Given the description of an element on the screen output the (x, y) to click on. 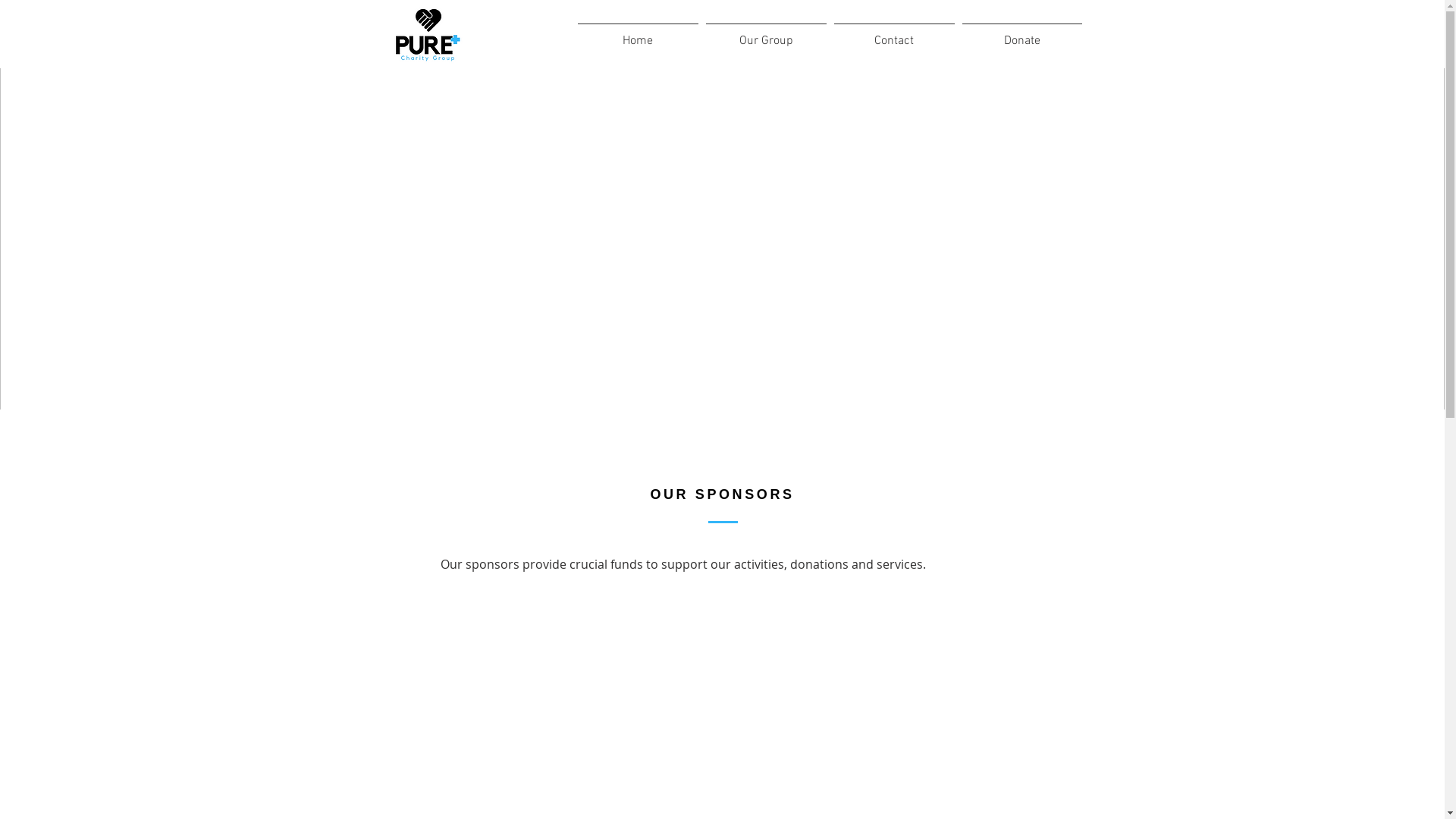
Donate Element type: text (1021, 33)
Screen Shot 2017-12-15 at 6.24.18 pm.png Element type: hover (427, 33)
Contact Element type: text (893, 33)
Home Element type: text (637, 33)
